Given the description of an element on the screen output the (x, y) to click on. 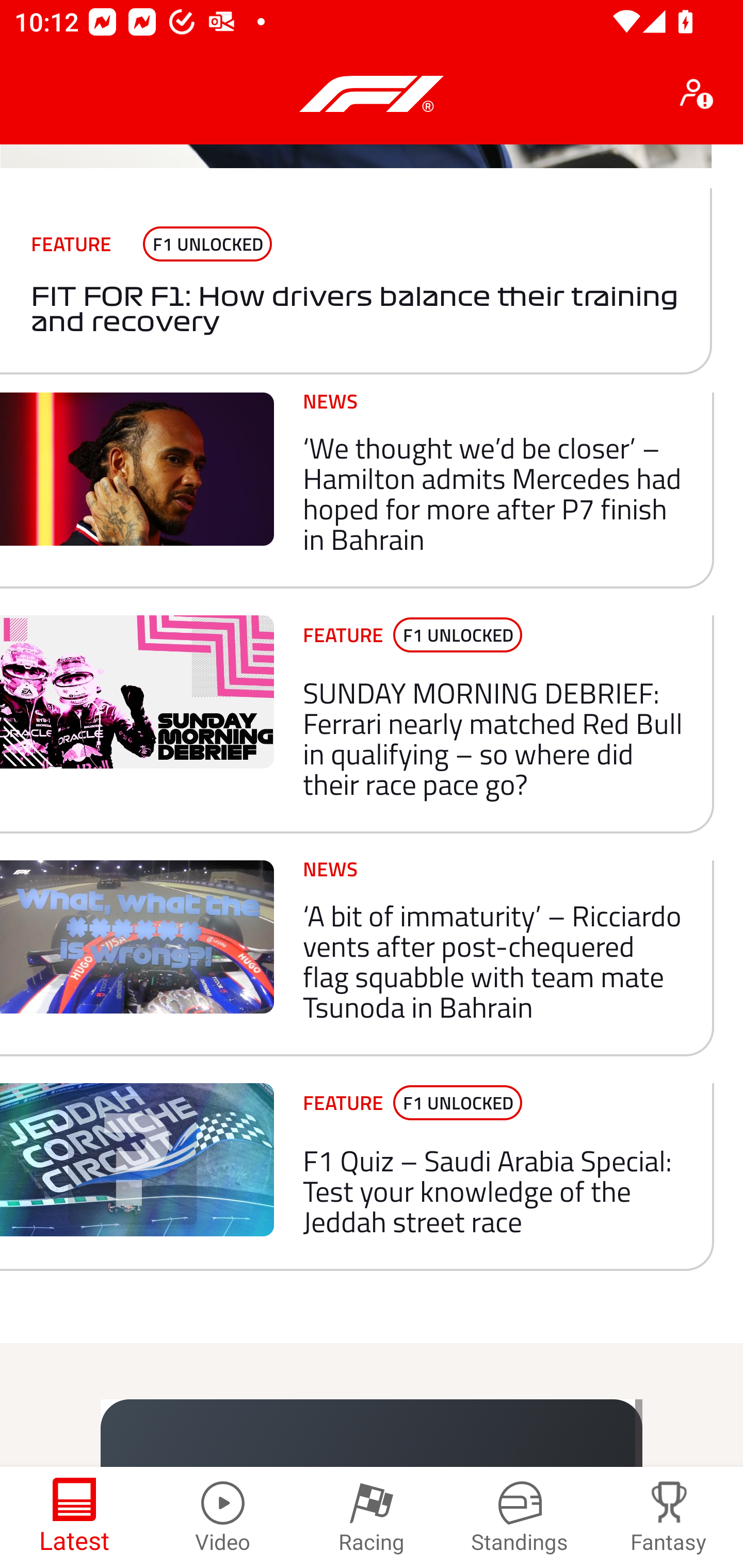
Video (222, 1517)
Racing (371, 1517)
Standings (519, 1517)
Fantasy (668, 1517)
